Given the description of an element on the screen output the (x, y) to click on. 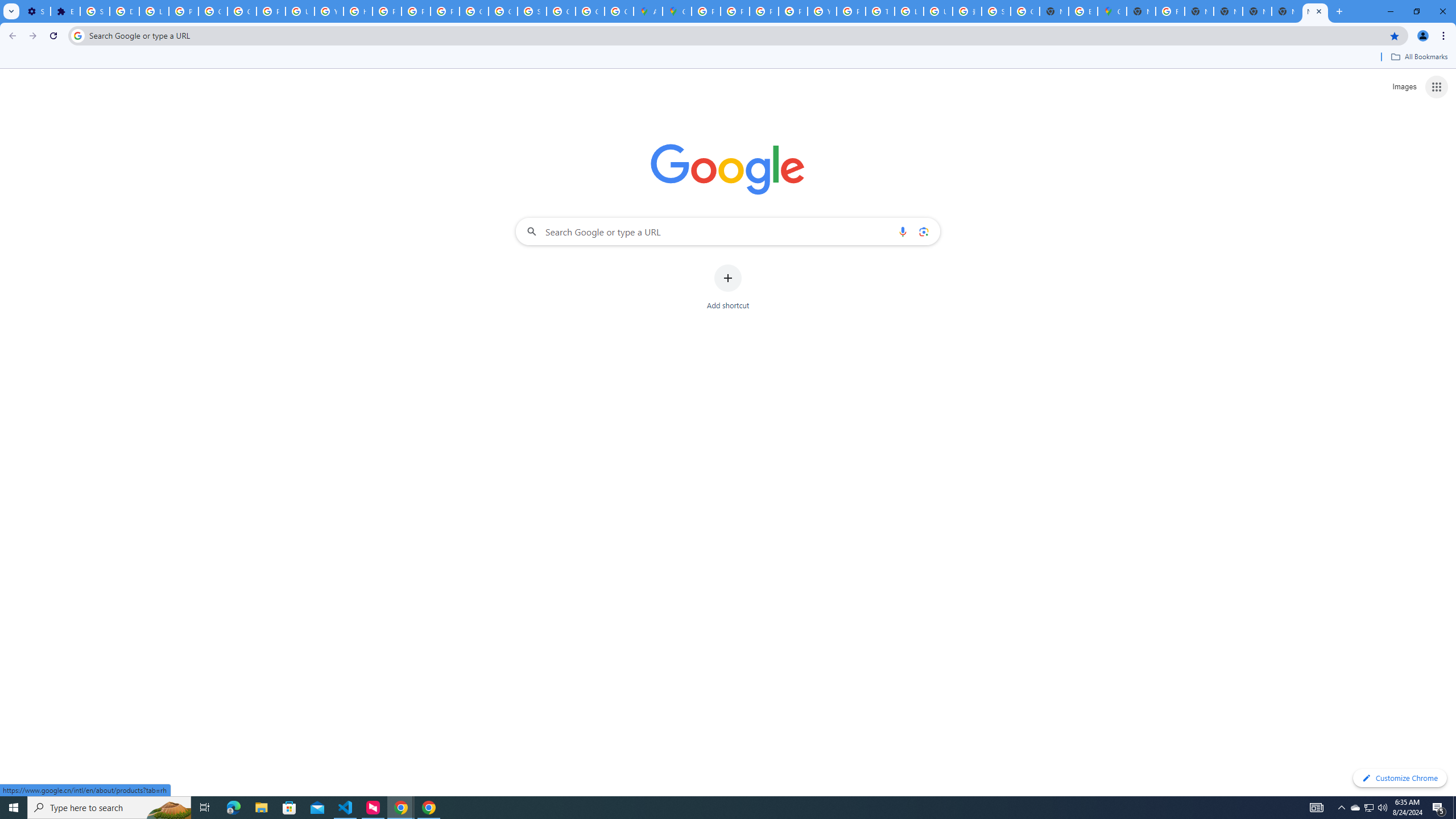
Policy Accountability and Transparency - Transparency Center (705, 11)
Privacy Help Center - Policies Help (763, 11)
Sign in - Google Accounts (531, 11)
Delete photos & videos - Computer - Google Photos Help (124, 11)
